Given the description of an element on the screen output the (x, y) to click on. 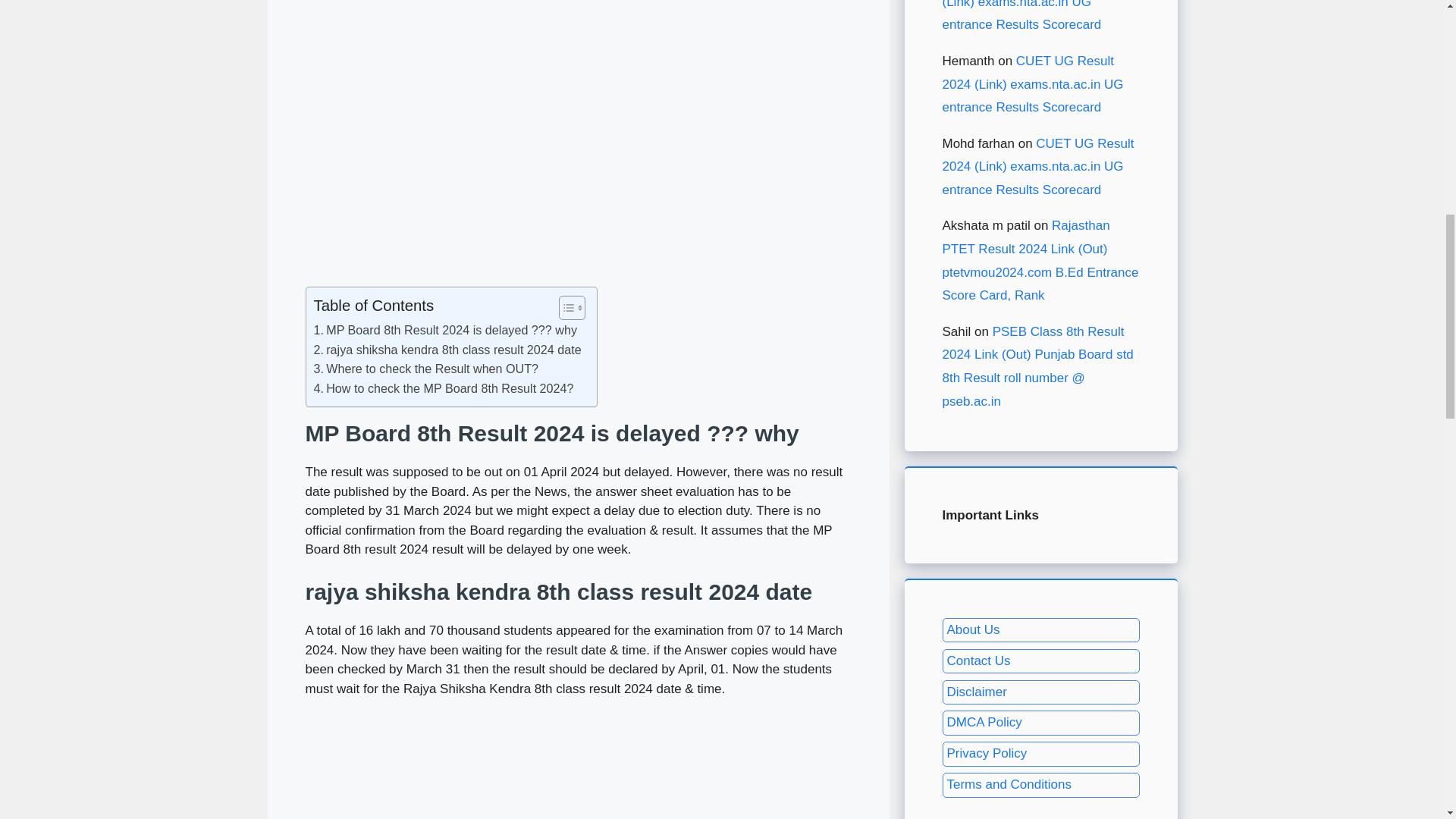
Where to check the Result when OUT? (426, 369)
MP Board 8th Result 2024 is delayed ??? why (446, 330)
How to check the MP Board 8th Result 2024? (443, 388)
Where to check the Result when OUT? (426, 369)
rajya shiksha kendra 8th class result 2024 date (447, 350)
rajya shiksha kendra 8th class result 2024 date (447, 350)
MP Board 8th Result 2024 is delayed ??? why (446, 330)
DMCA Policy (984, 722)
Disclaimer (976, 692)
Contact Us (978, 661)
How to check the MP Board 8th Result 2024? (443, 388)
About Us (972, 630)
